Given the description of an element on the screen output the (x, y) to click on. 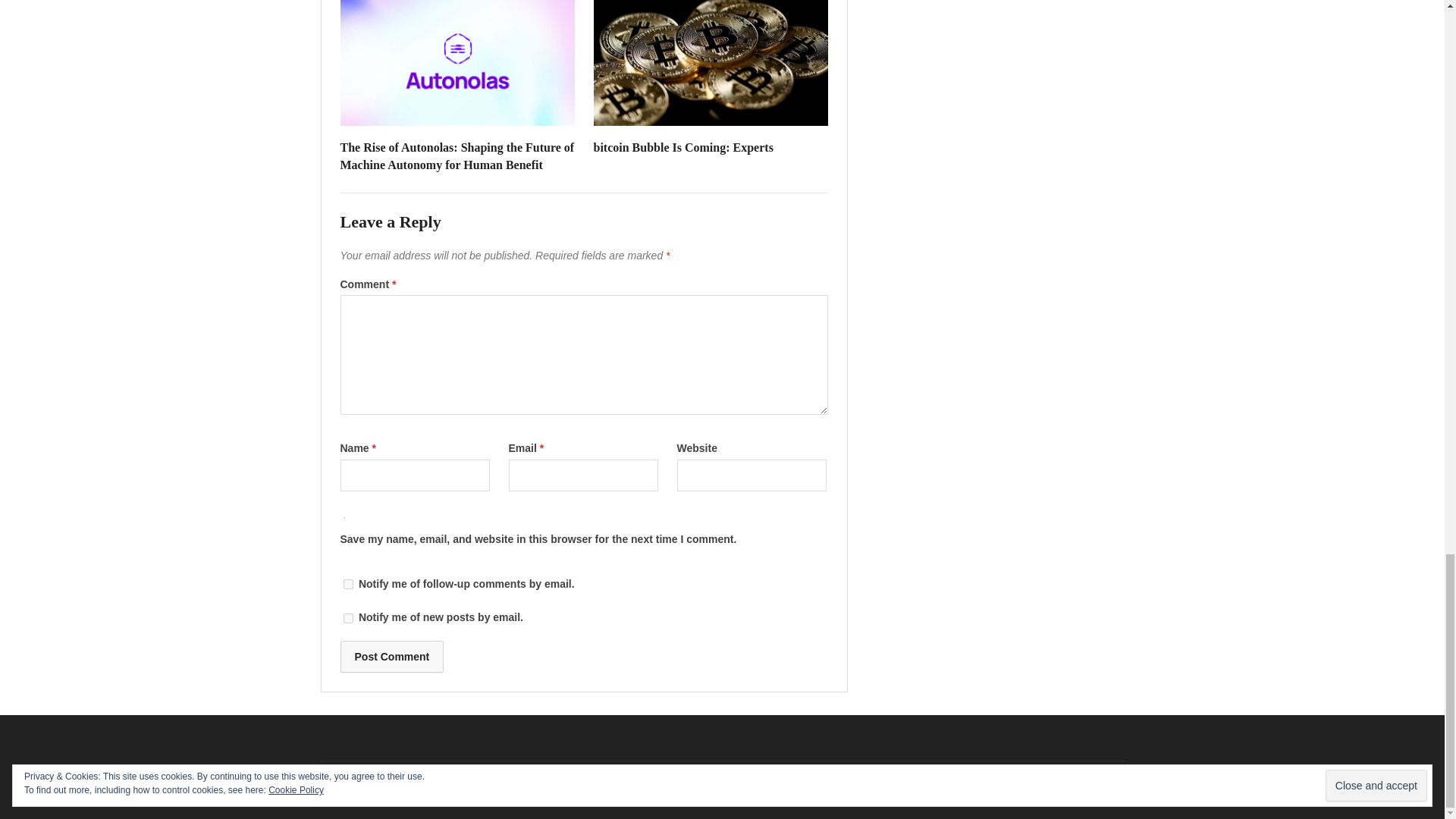
subscribe (347, 618)
subscribe (347, 583)
Post Comment (391, 656)
